Given the description of an element on the screen output the (x, y) to click on. 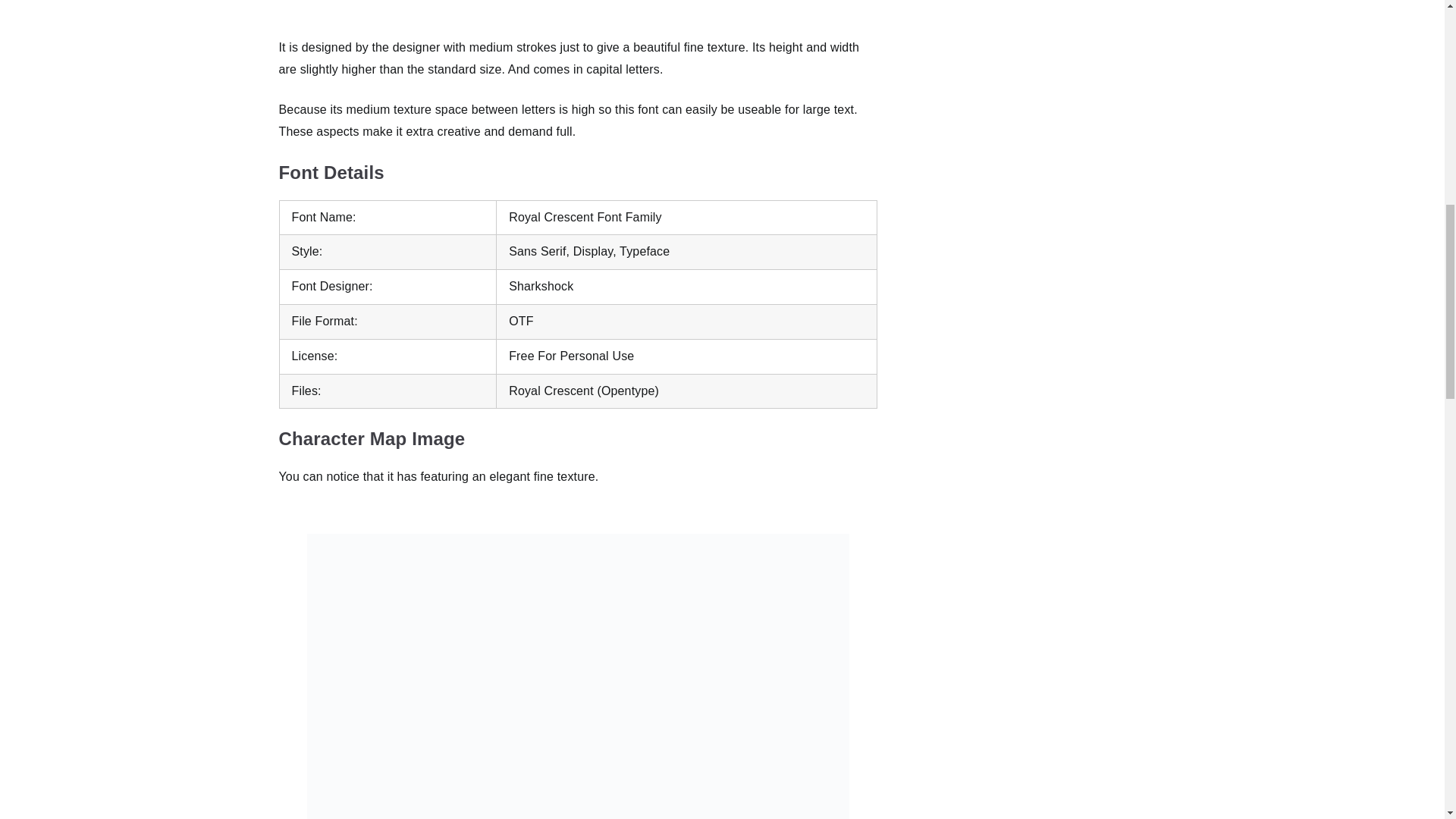
Advertisement (577, 11)
